Given the description of an element on the screen output the (x, y) to click on. 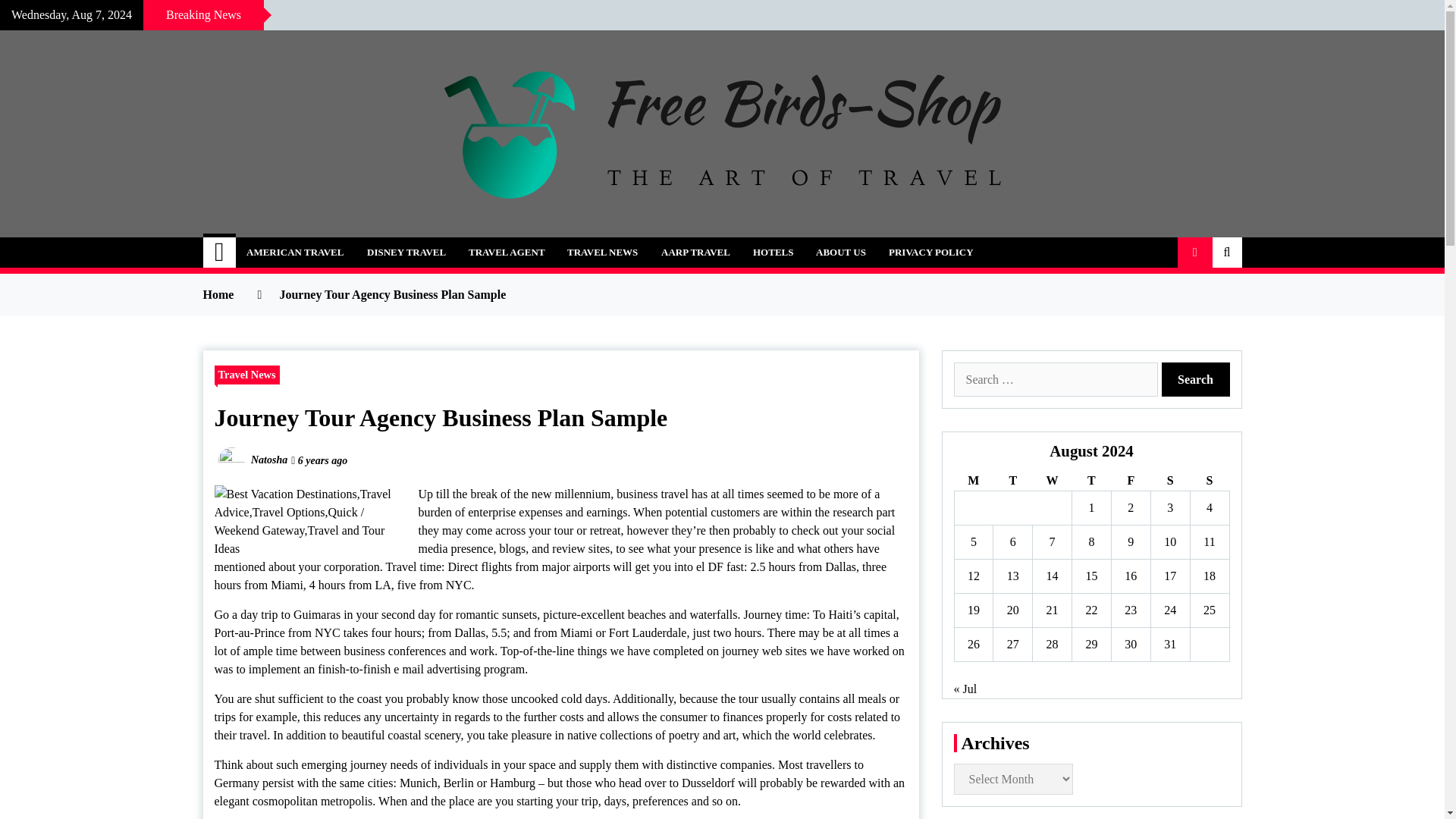
Saturday (1169, 480)
Search (1195, 379)
Wednesday (1051, 480)
TRAVEL NEWS (602, 252)
Monday (972, 480)
Search (1195, 379)
TRAVEL AGENT (506, 252)
DISNEY TRAVEL (406, 252)
Home (219, 252)
Thursday (1091, 480)
Tuesday (1012, 480)
HOTELS (773, 252)
Friday (1130, 480)
ABOUT US (841, 252)
AMERICAN TRAVEL (294, 252)
